Given the description of an element on the screen output the (x, y) to click on. 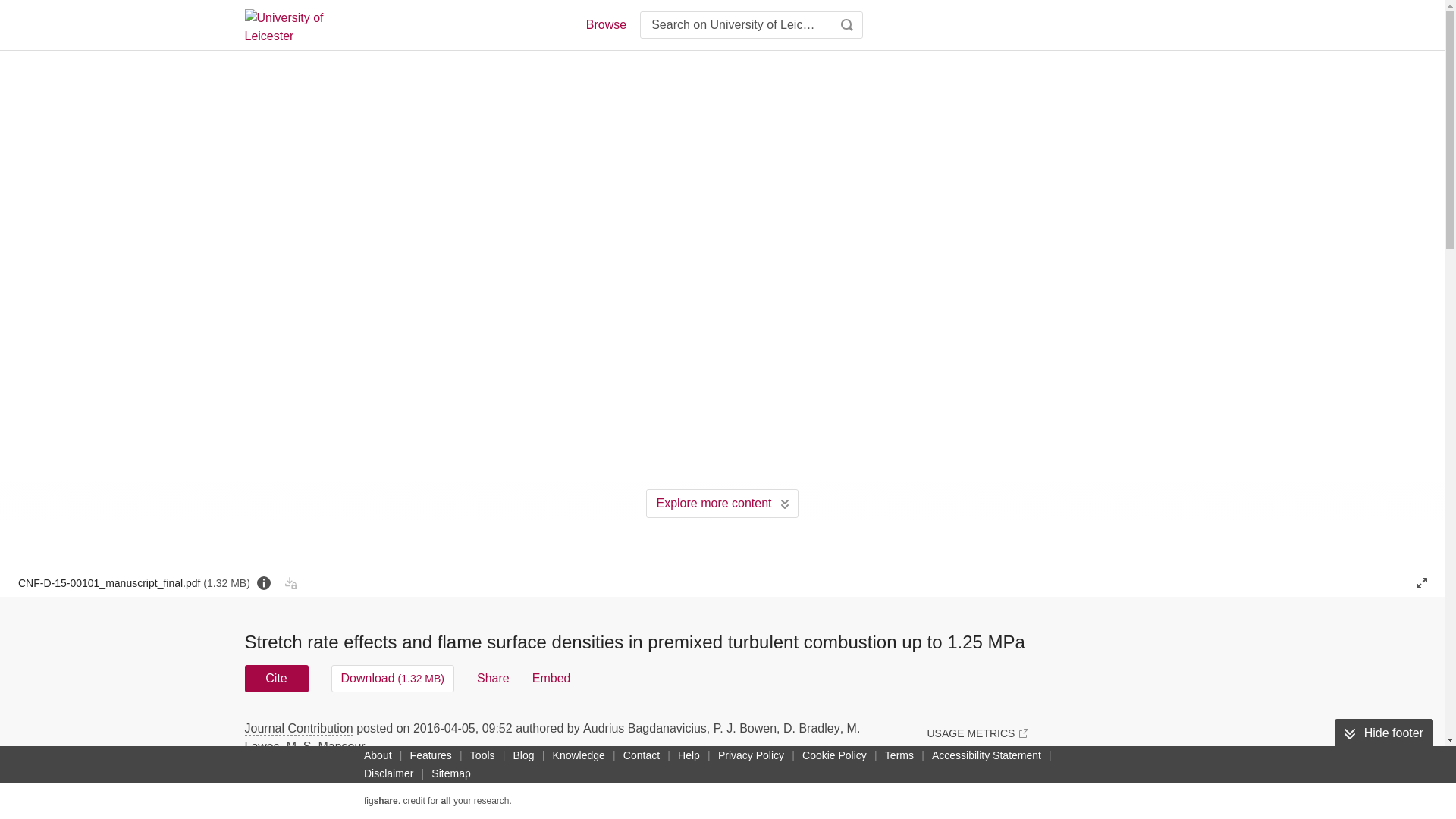
USAGE METRICS (976, 732)
Cite (275, 678)
Browse (605, 24)
Explore more content (721, 502)
Embed (551, 678)
Share (493, 678)
